Given the description of an element on the screen output the (x, y) to click on. 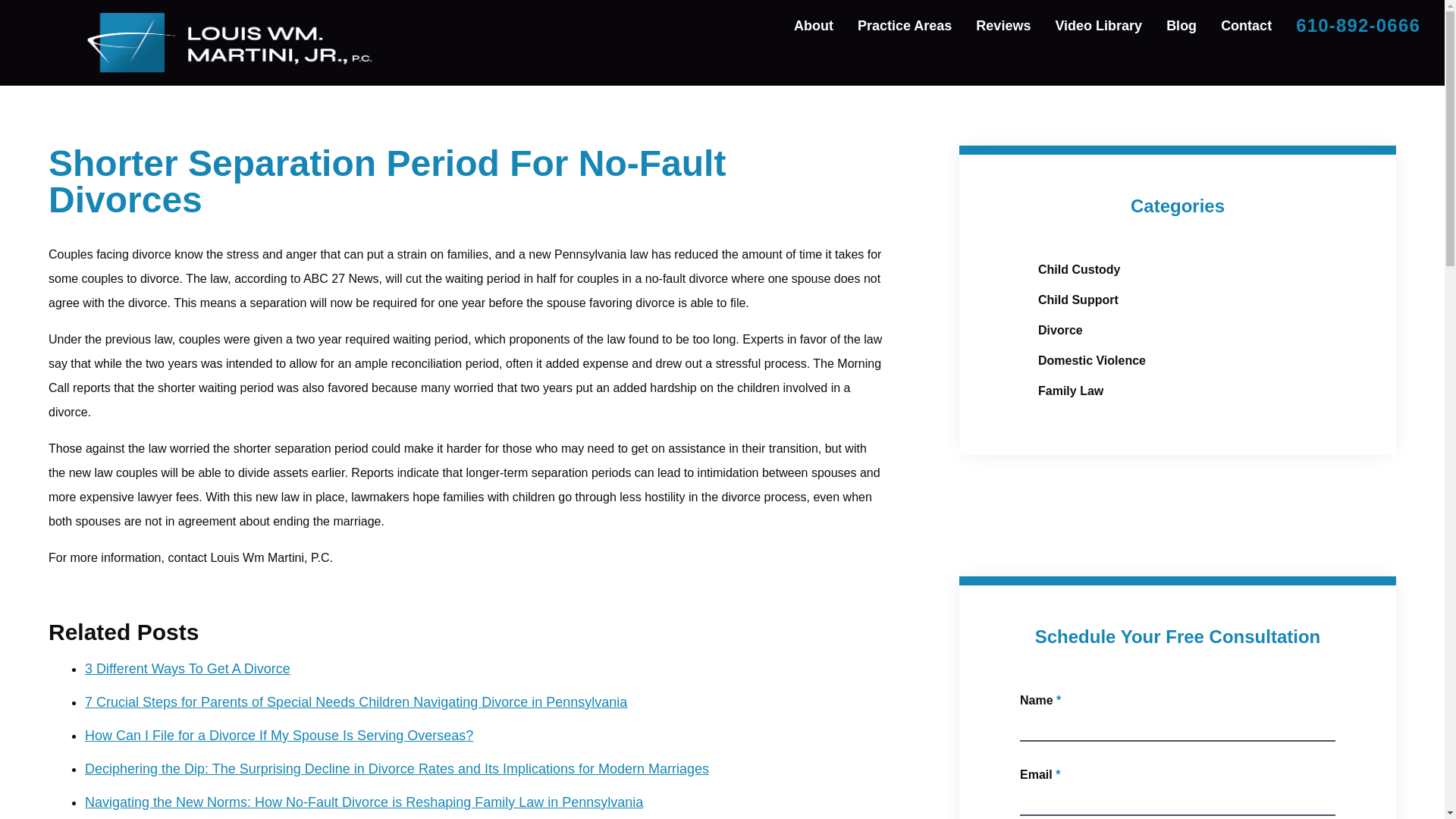
Video Library (1098, 25)
Blog (1181, 25)
About (813, 25)
Reviews (1002, 25)
Practice Areas (904, 25)
Contact (1246, 25)
610-892-0666 (1358, 25)
